Given the description of an element on the screen output the (x, y) to click on. 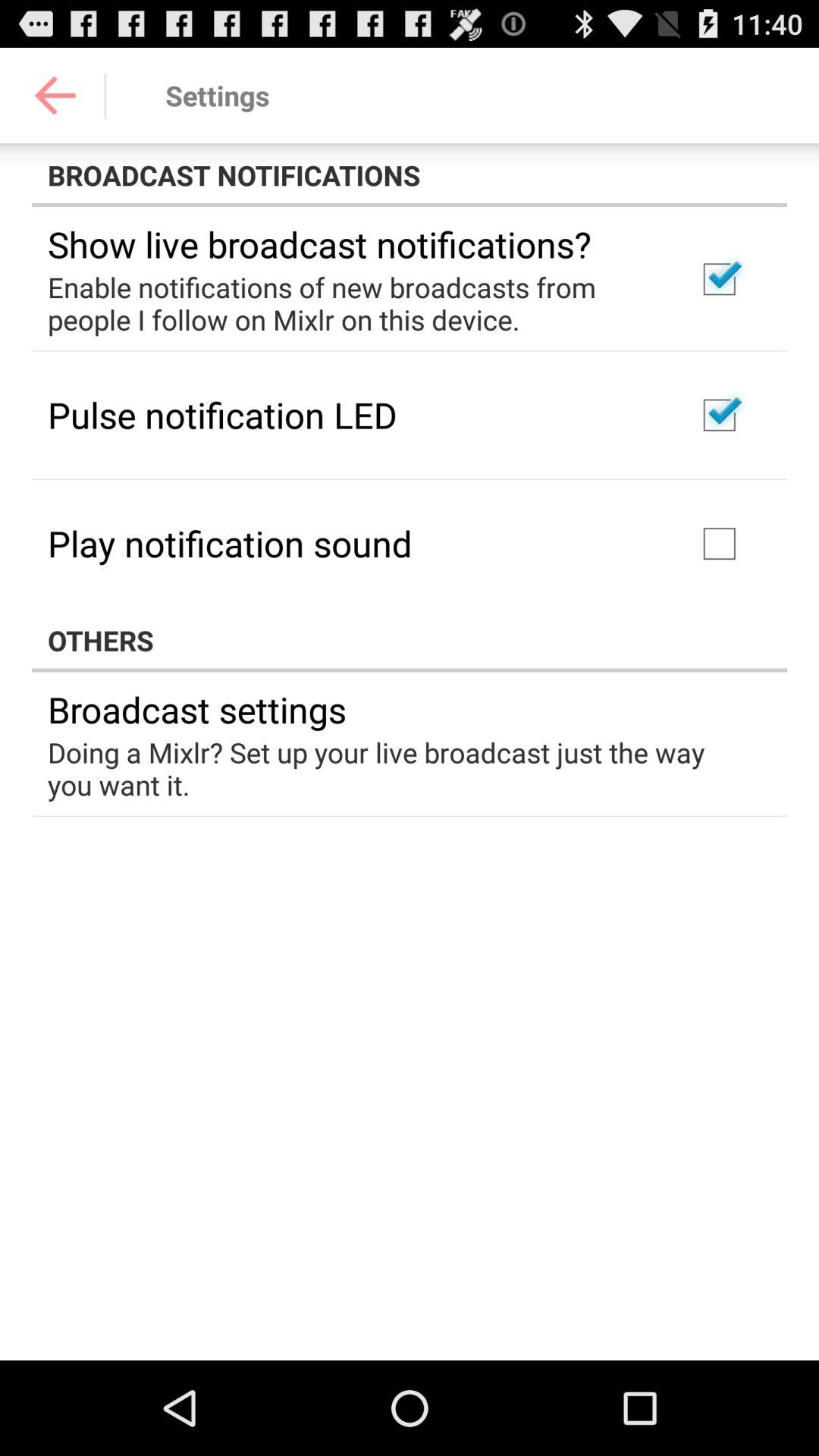
select the blue tick mark in the box beside show live broadcast notifications (719, 279)
